Given the description of an element on the screen output the (x, y) to click on. 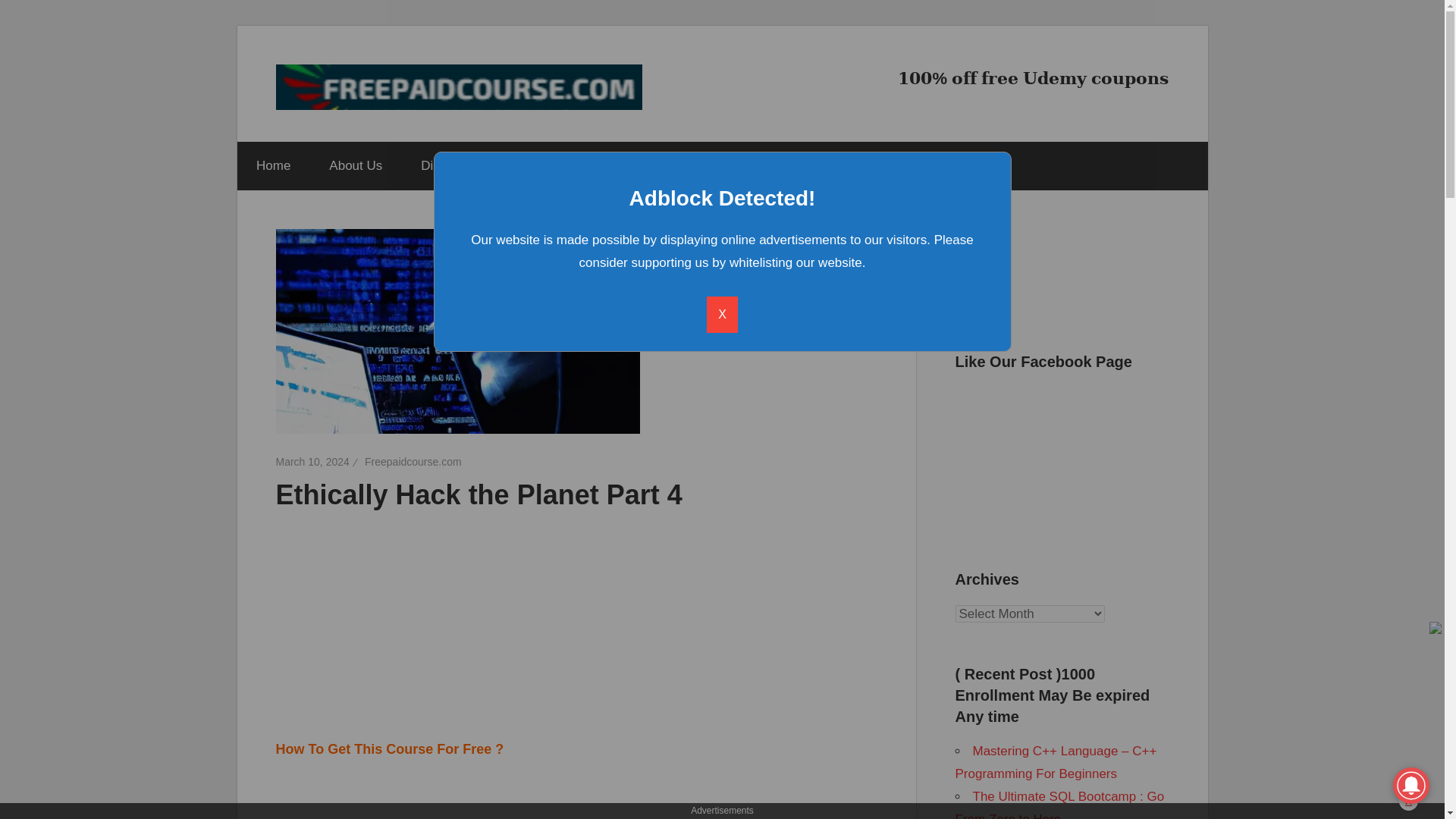
x (1408, 800)
About Us (355, 165)
Disclaimer (450, 165)
Advertisement (713, 716)
Privacy Policy (560, 165)
Freepaidcourse.com (413, 461)
Home (271, 165)
March 10, 2024 (312, 461)
Advertisement (576, 797)
Advertisement (391, 615)
Contact Us (671, 165)
Ethically Hack the Planet Part 4 1 (458, 331)
View all posts by Freepaidcourse.com (413, 461)
5:32 pm (312, 461)
The Ultimate SQL Bootcamp : Go From Zero to Hero (1059, 804)
